Given the description of an element on the screen output the (x, y) to click on. 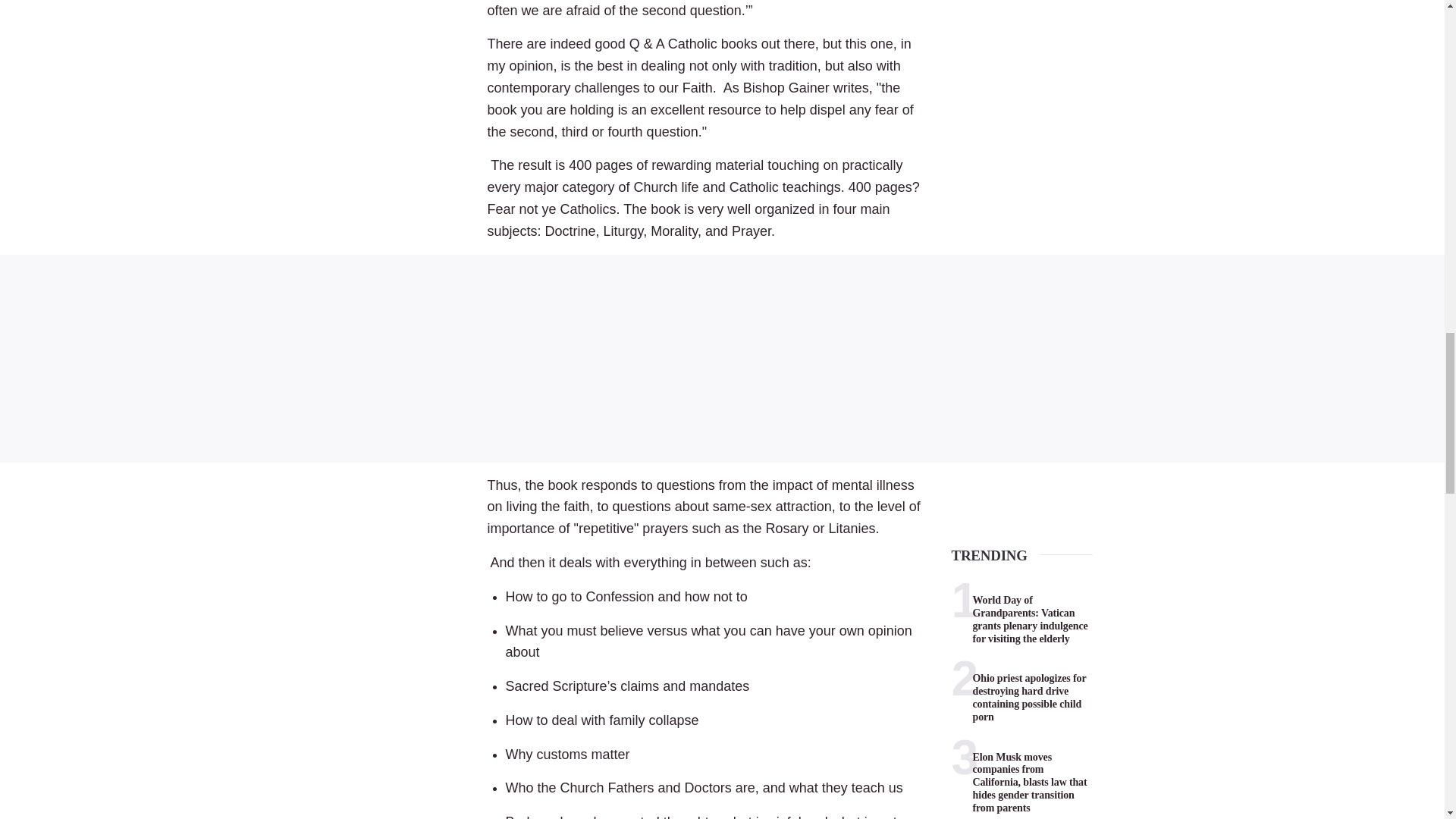
3rd party ad content (721, 358)
